Given the description of an element on the screen output the (x, y) to click on. 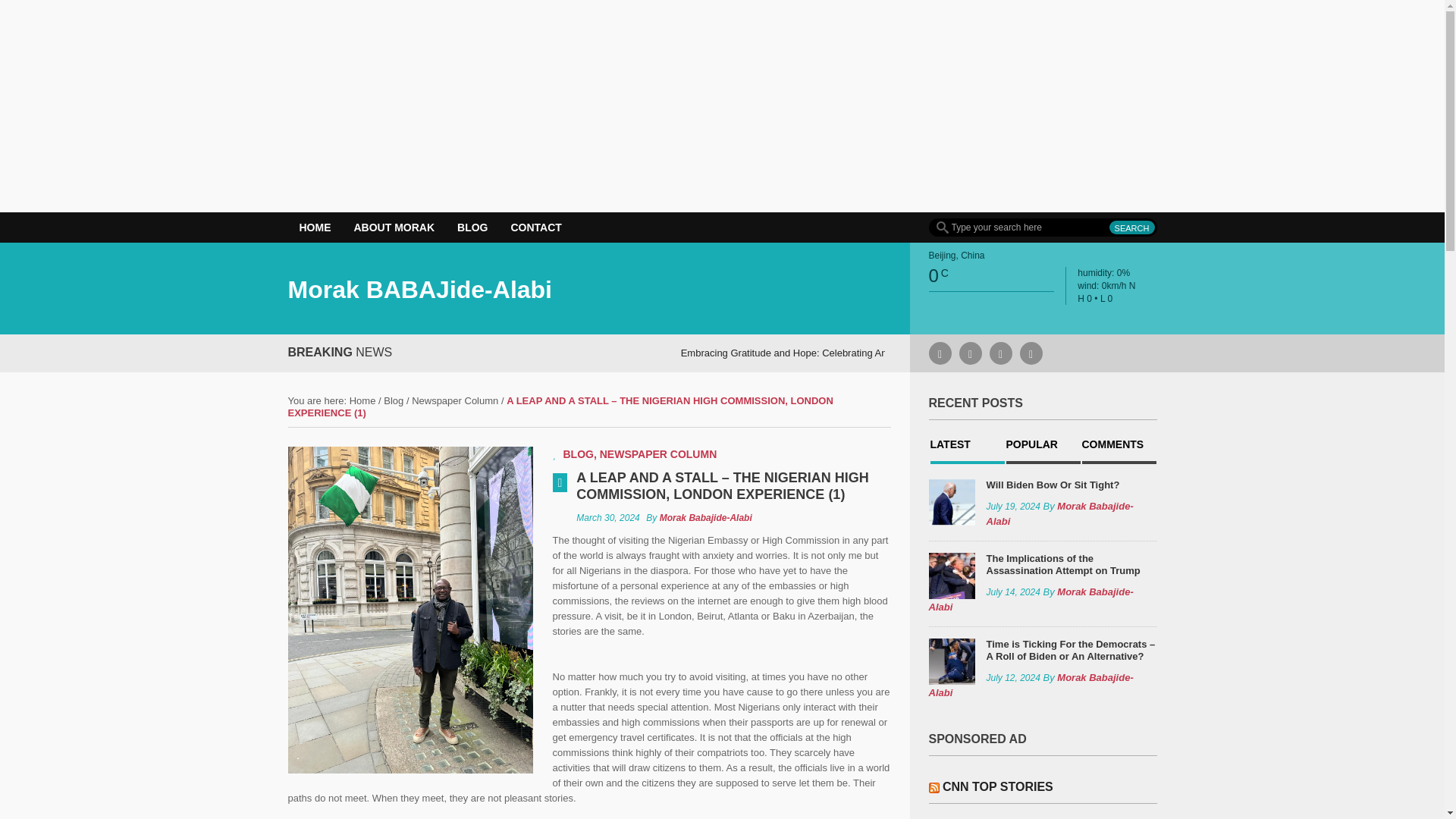
Posts by Morak Babajide-Alabi (1030, 684)
Type your search here (1042, 227)
ABOUT MORAK (394, 227)
Search (1131, 227)
CONTACT (535, 227)
BLOG (472, 227)
HOME (315, 227)
Search (1131, 227)
BLOG (577, 453)
Posts by Morak Babajide-Alabi (705, 517)
Posts by Morak Babajide-Alabi (1030, 599)
Newspaper Column (454, 400)
Blog (393, 400)
